Given the description of an element on the screen output the (x, y) to click on. 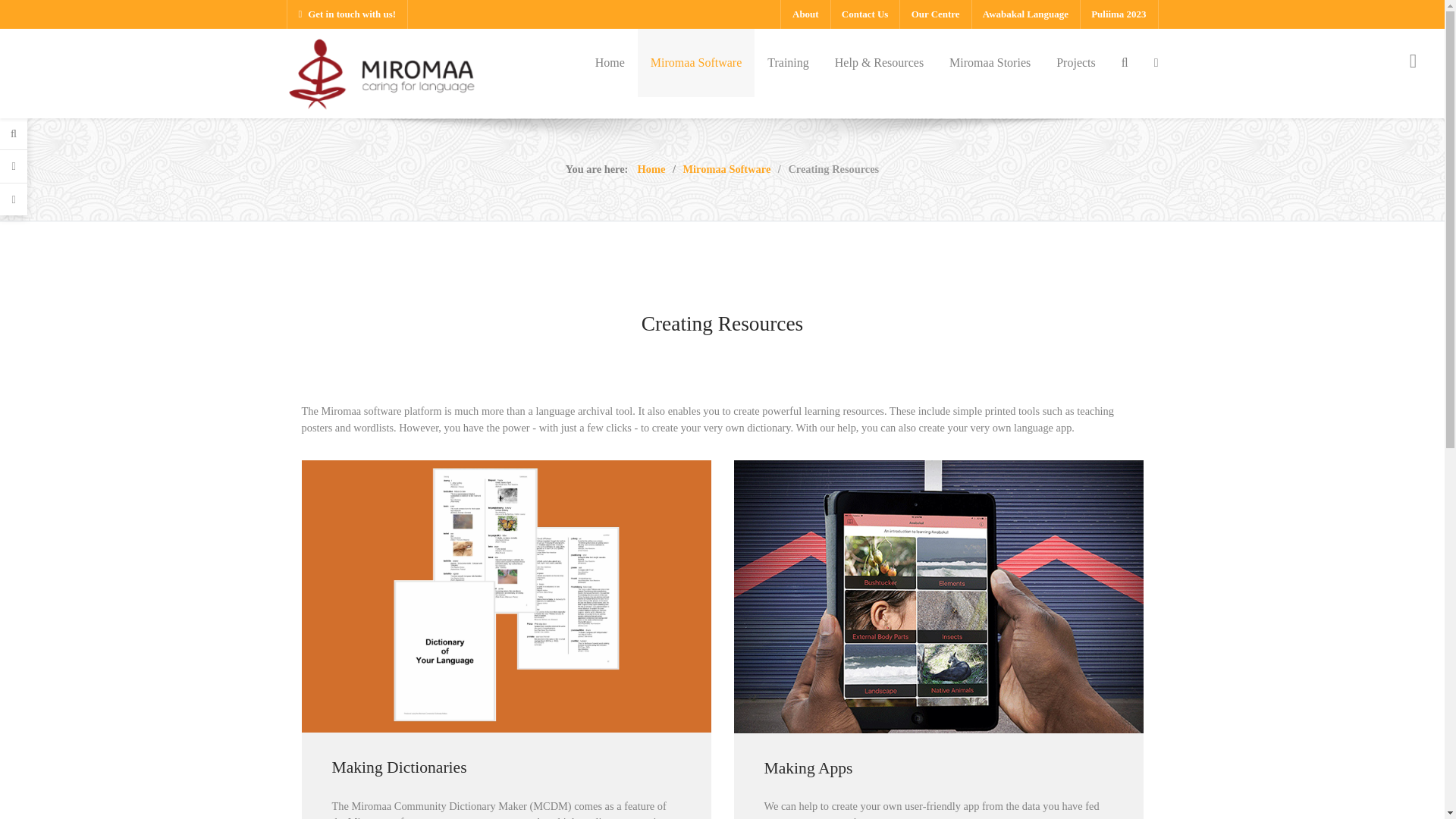
Awabakal Language (1025, 14)
Miromaa Stories (989, 62)
Miromaa Software (695, 62)
Contact Us (864, 14)
Our Centre (935, 14)
Puliima 2023 (1118, 14)
Vimeo (1112, 782)
Twitter (1078, 782)
Miromaa - Caring for Language (381, 71)
YouTube (1144, 782)
Facebook (1045, 782)
Training (788, 62)
Get in touch with us! (347, 14)
Subscribe (775, 655)
